Given the description of an element on the screen output the (x, y) to click on. 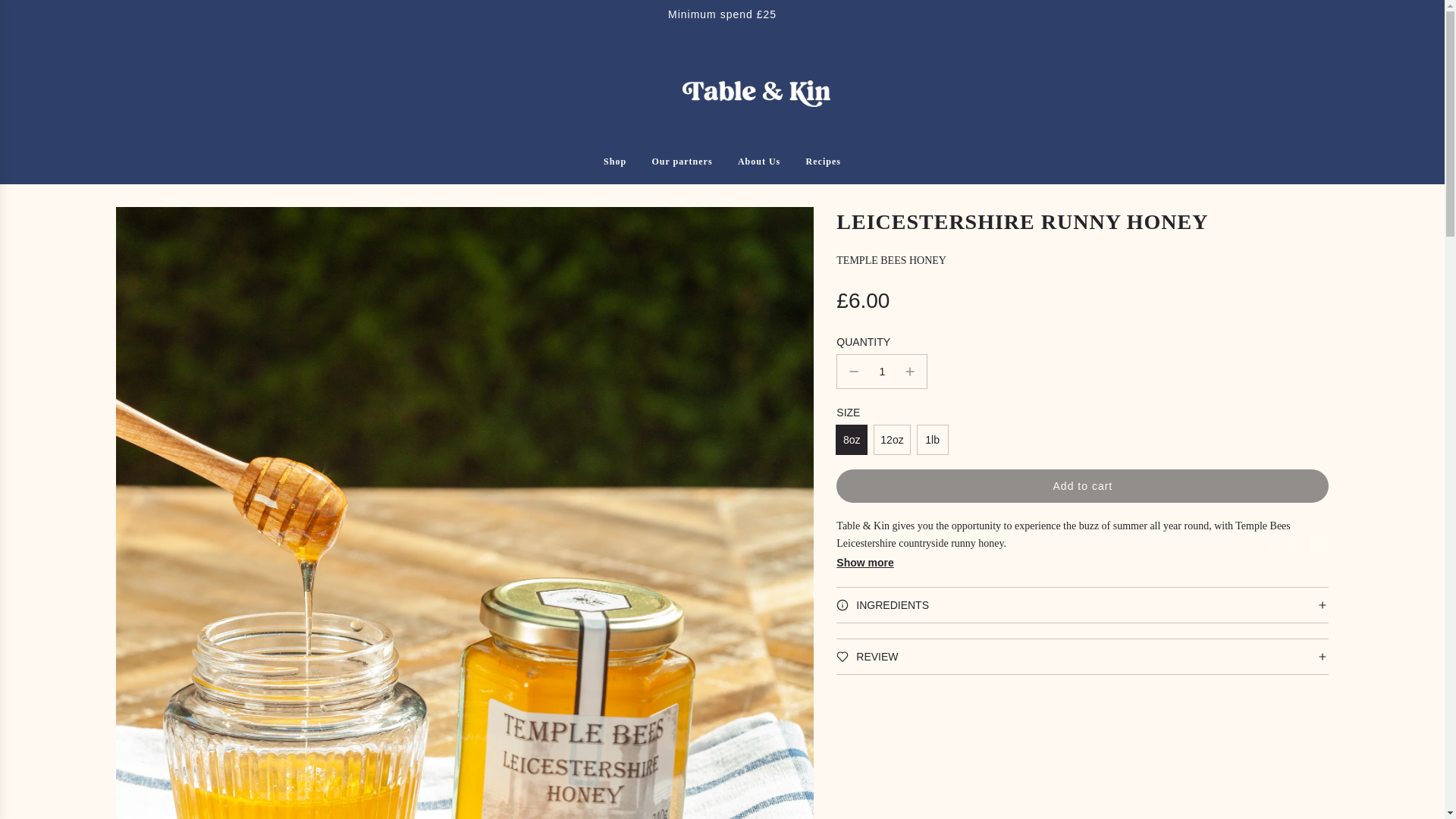
Shop (614, 161)
Temple Bees Honey (890, 260)
